Given the description of an element on the screen output the (x, y) to click on. 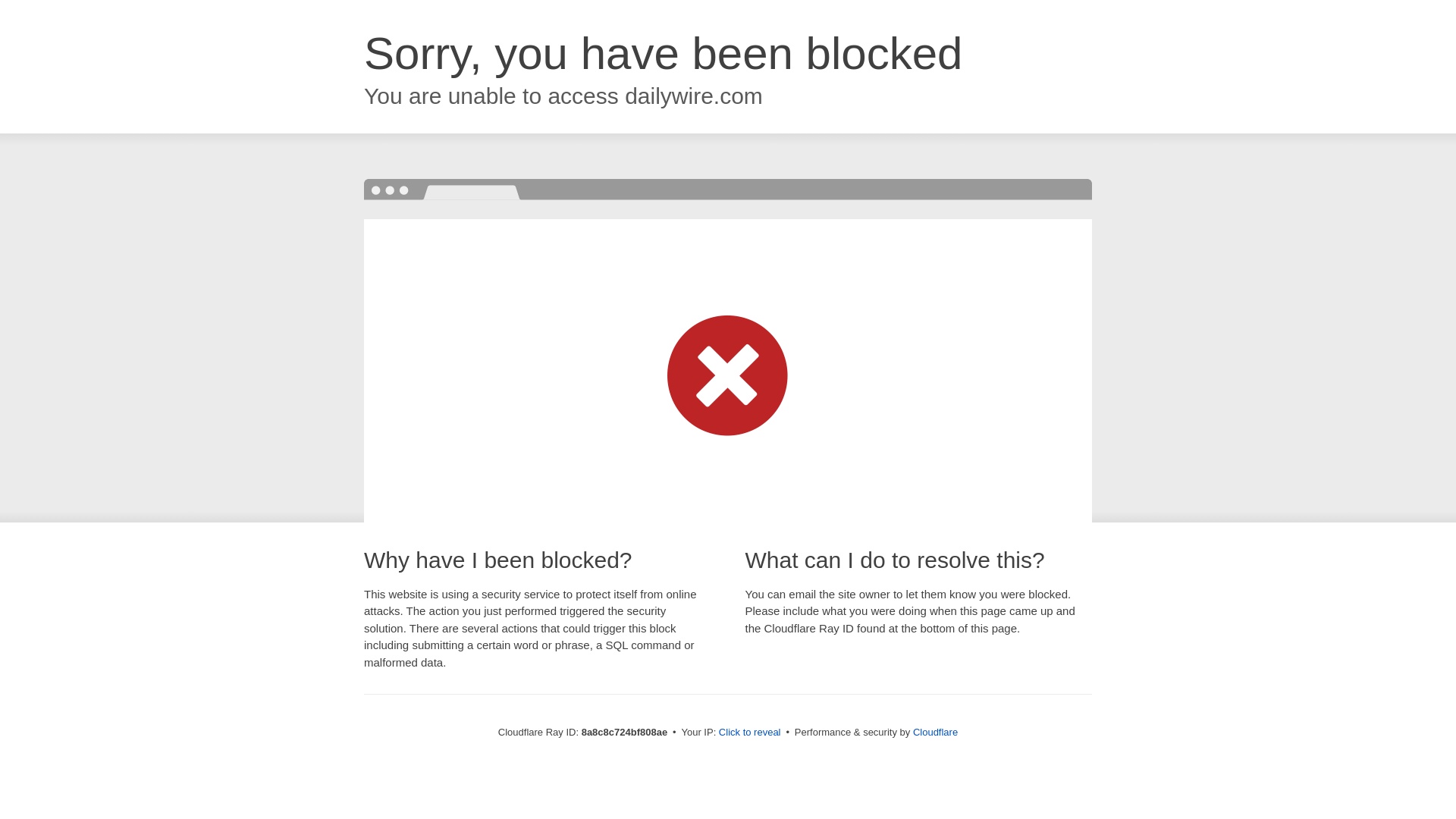
Cloudflare (935, 731)
Click to reveal (749, 732)
